Given the description of an element on the screen output the (x, y) to click on. 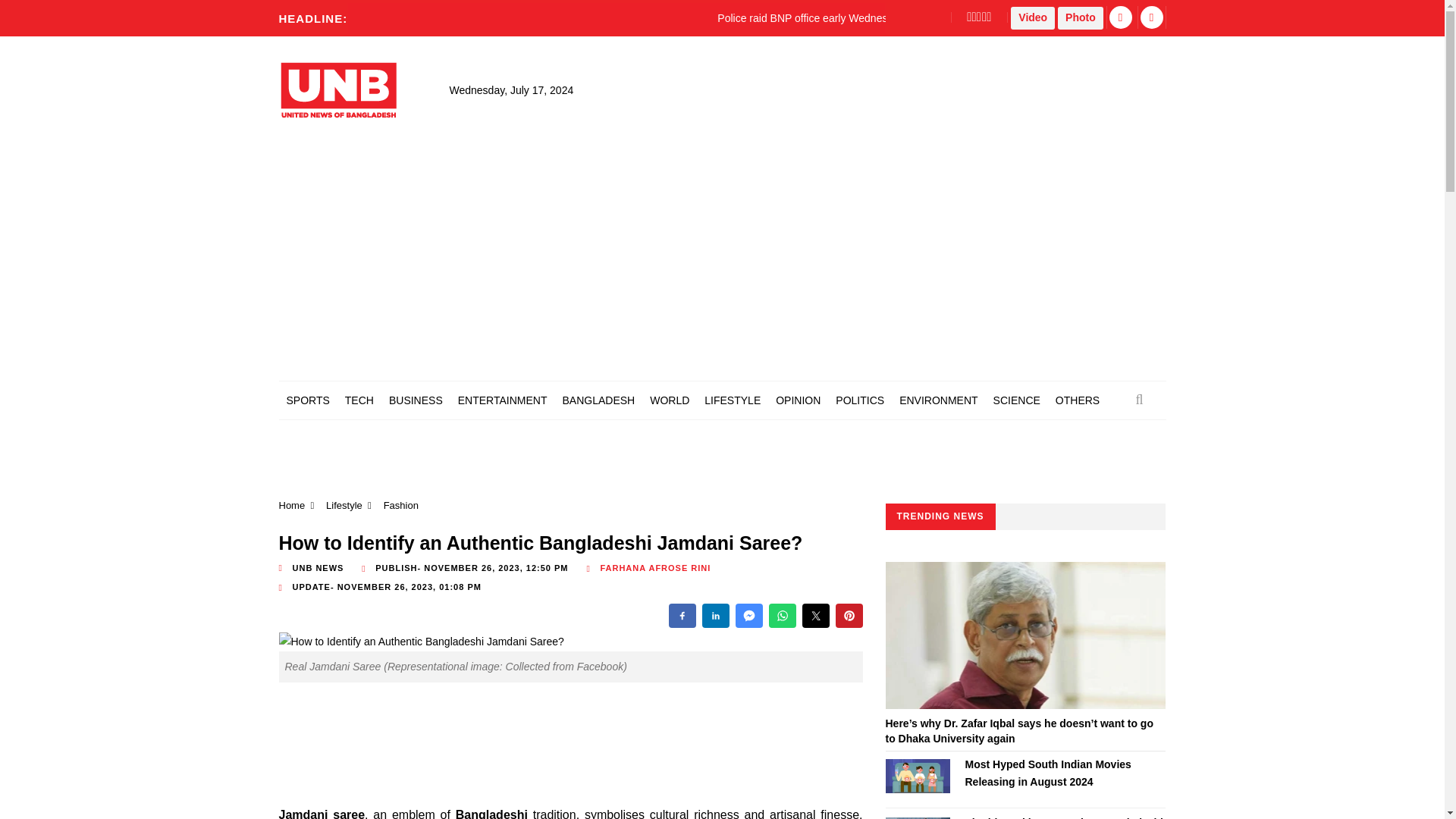
Photo (1080, 17)
BANGLADESH (598, 400)
SPORTS (308, 400)
Video (1031, 17)
TECH (359, 400)
Video (1032, 17)
Photo (1080, 17)
Advertisement (552, 746)
ENTERTAINMENT (501, 400)
BUSINESS (415, 400)
